Given the description of an element on the screen output the (x, y) to click on. 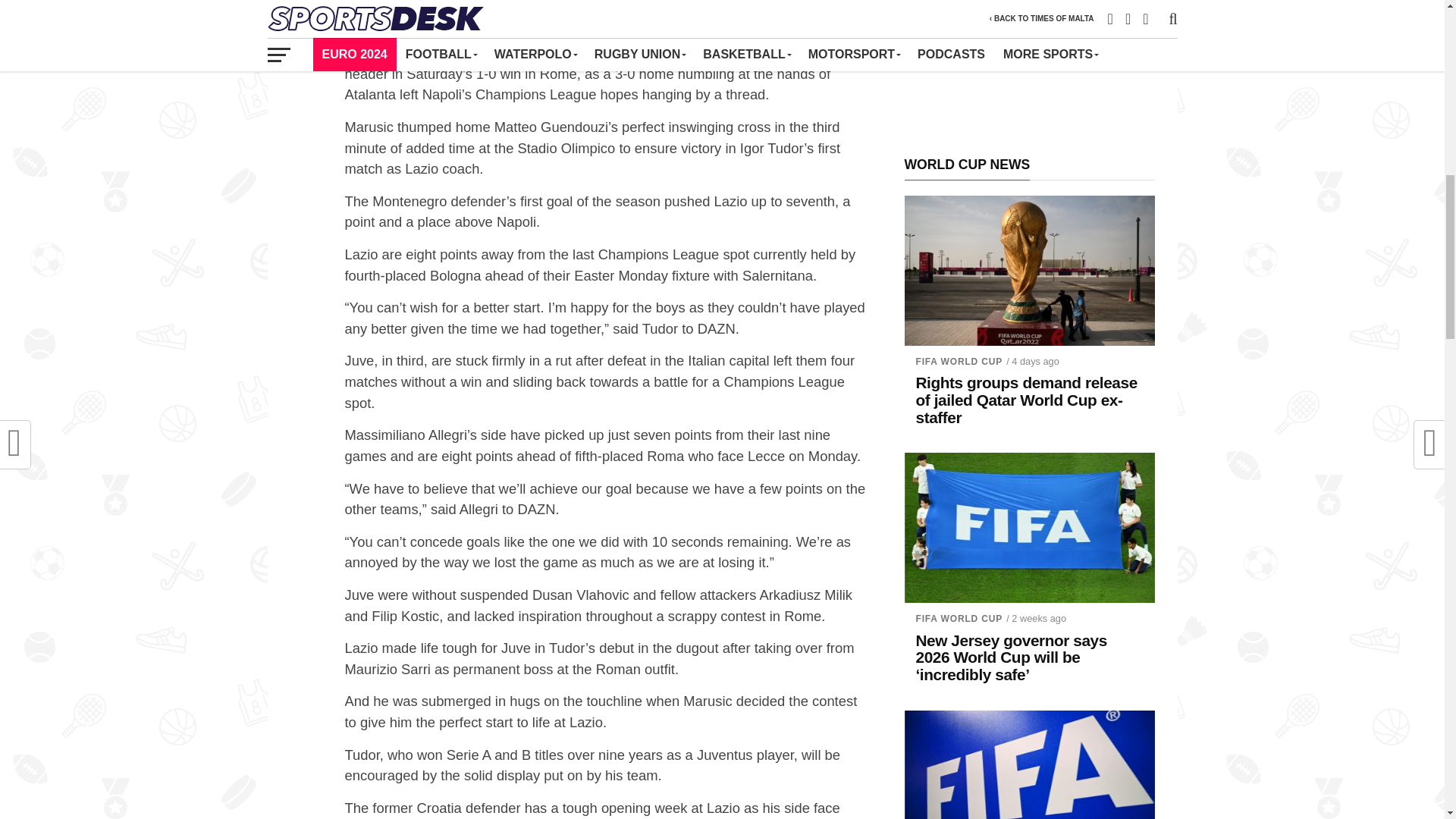
3rd party ad content (1028, 67)
